Given the description of an element on the screen output the (x, y) to click on. 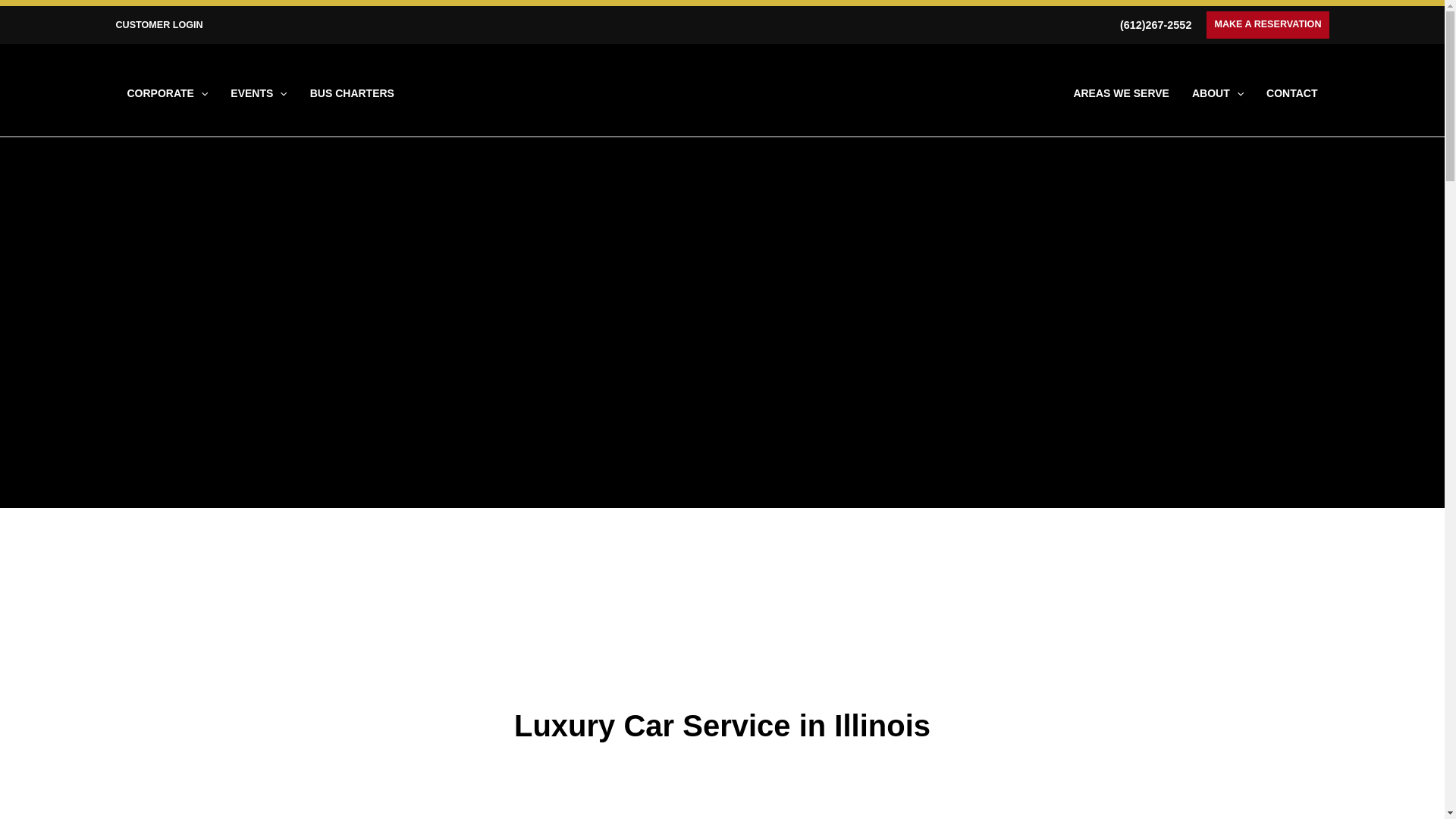
CUSTOMER LOGIN (158, 24)
AREAS WE SERVE (1120, 93)
ABOUT (1217, 93)
EVENTS (258, 93)
BUS CHARTERS (352, 93)
CORPORATE (167, 93)
MAKE A RESERVATION (1267, 24)
Gold Angles (722, 657)
CONTACT (1291, 93)
